Given the description of an element on the screen output the (x, y) to click on. 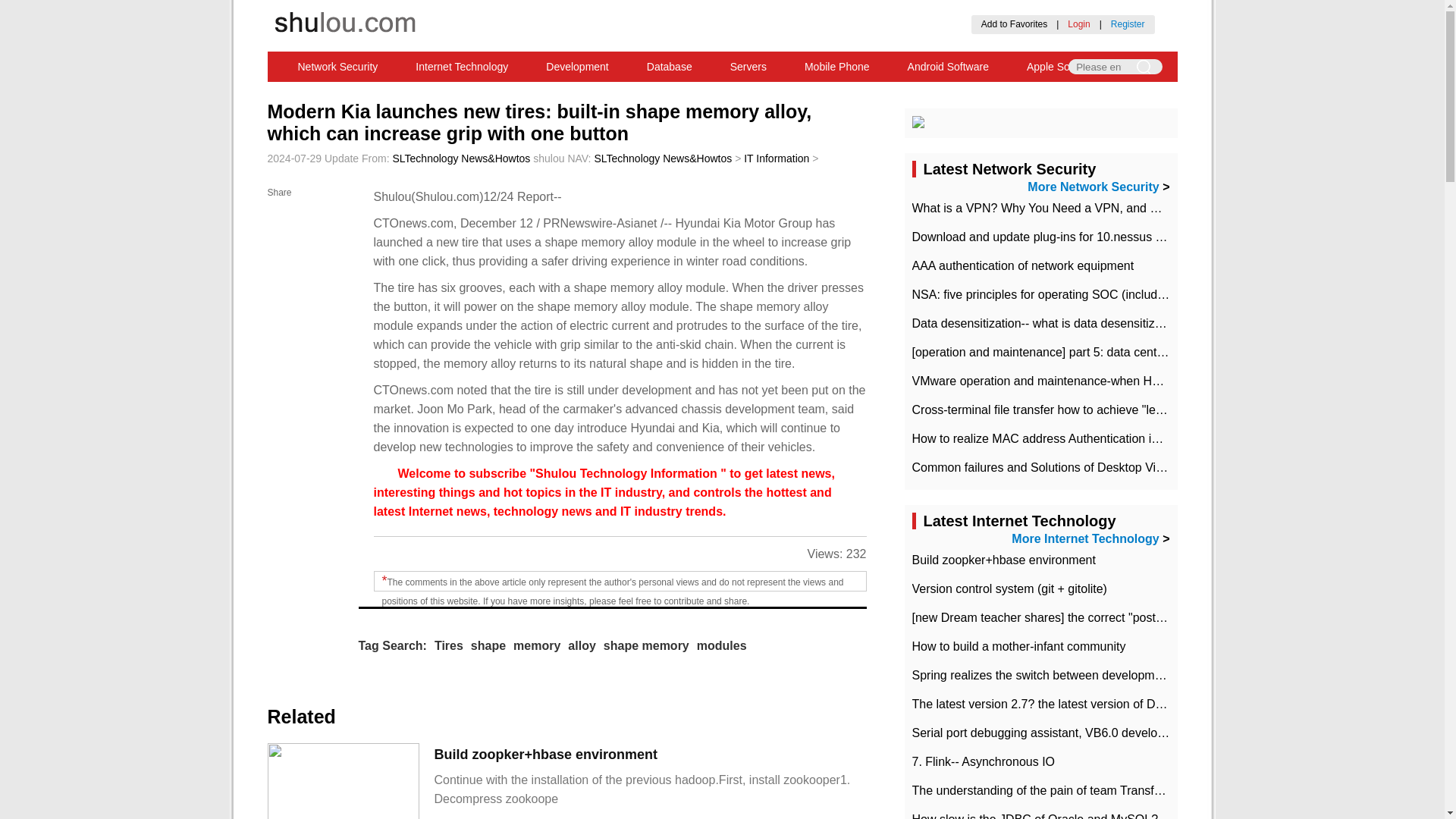
Development (577, 66)
Internet Technology (461, 66)
Database (669, 66)
Network Security (338, 66)
About us (678, 9)
Apple Software (1062, 66)
Mobile Phone (837, 66)
Android Software (947, 66)
Database (669, 66)
Servers (748, 66)
Servers (748, 66)
Network Security (338, 66)
Development (577, 66)
Add to Favorites (1013, 23)
Login (1078, 23)
